Given the description of an element on the screen output the (x, y) to click on. 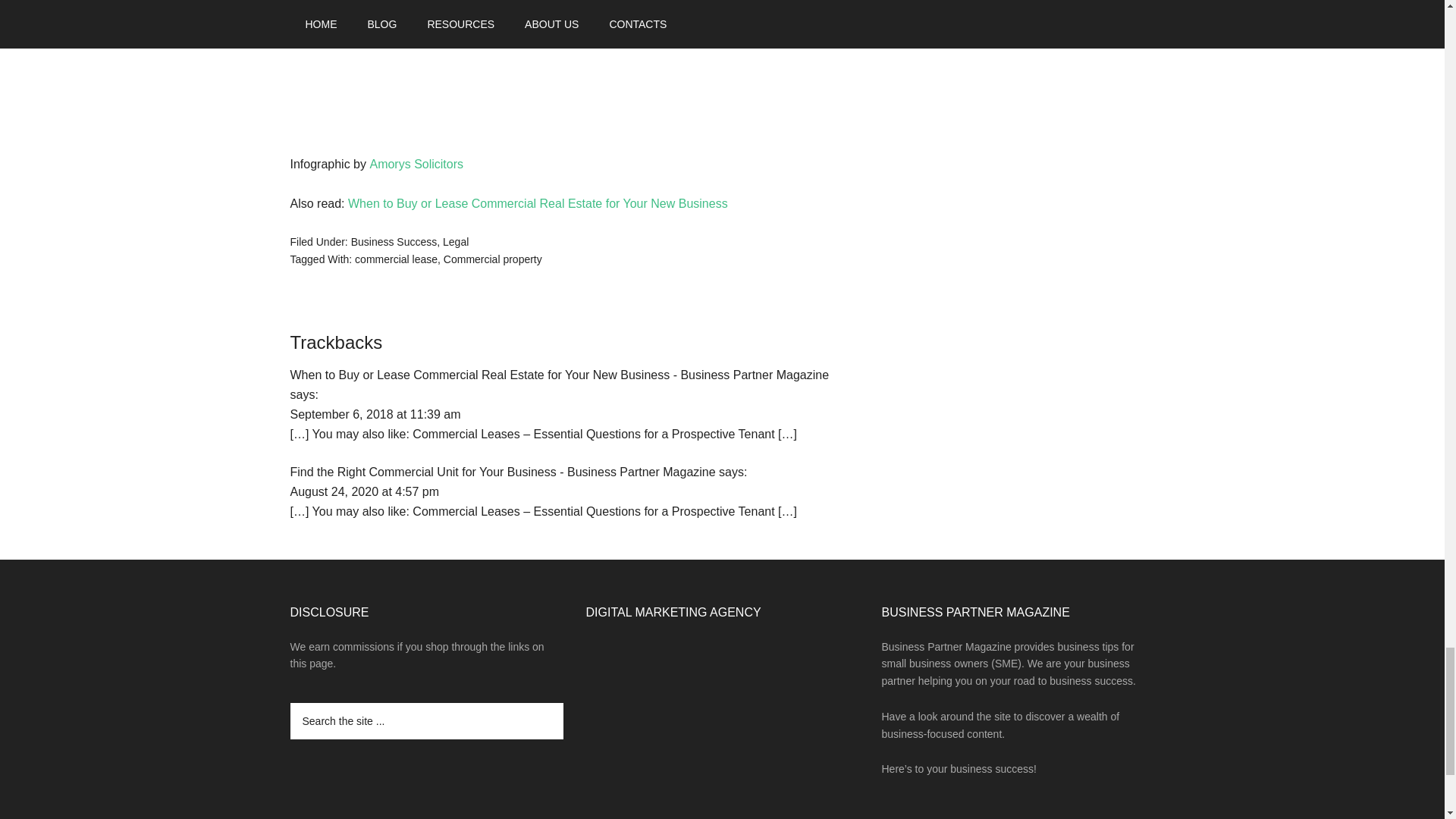
Business Success (394, 241)
Amorys Solicitors (416, 164)
August 24, 2020 at 4:57 pm (364, 491)
commercial lease (396, 259)
Legal (455, 241)
Commercial property (492, 259)
September 6, 2018 at 11:39 am (374, 413)
